Given the description of an element on the screen output the (x, y) to click on. 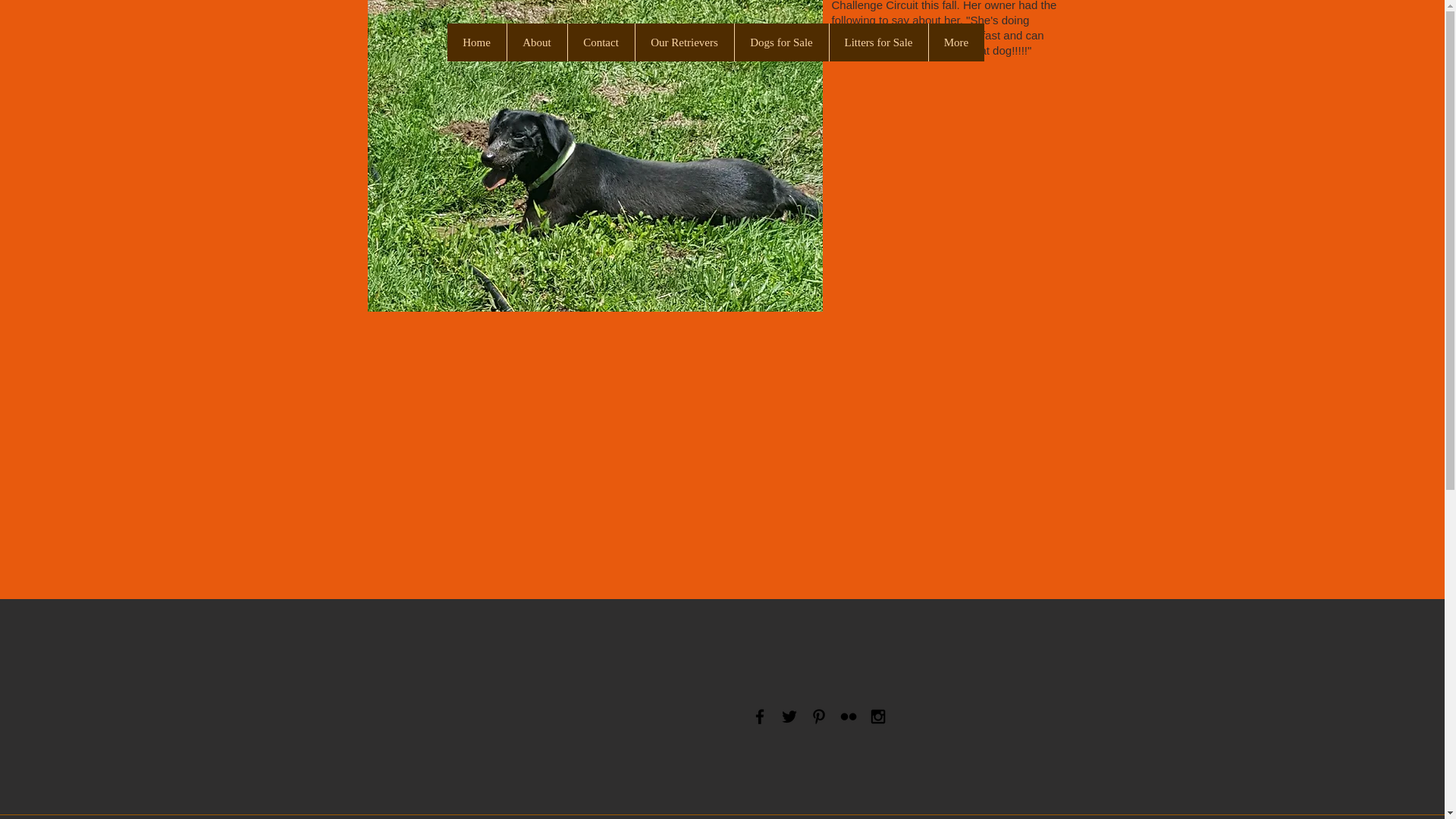
Litters for Sale (877, 42)
Contact (600, 42)
Home (476, 42)
About (536, 42)
Dogs for Sale (780, 42)
Our Retrievers (683, 42)
